Given the description of an element on the screen output the (x, y) to click on. 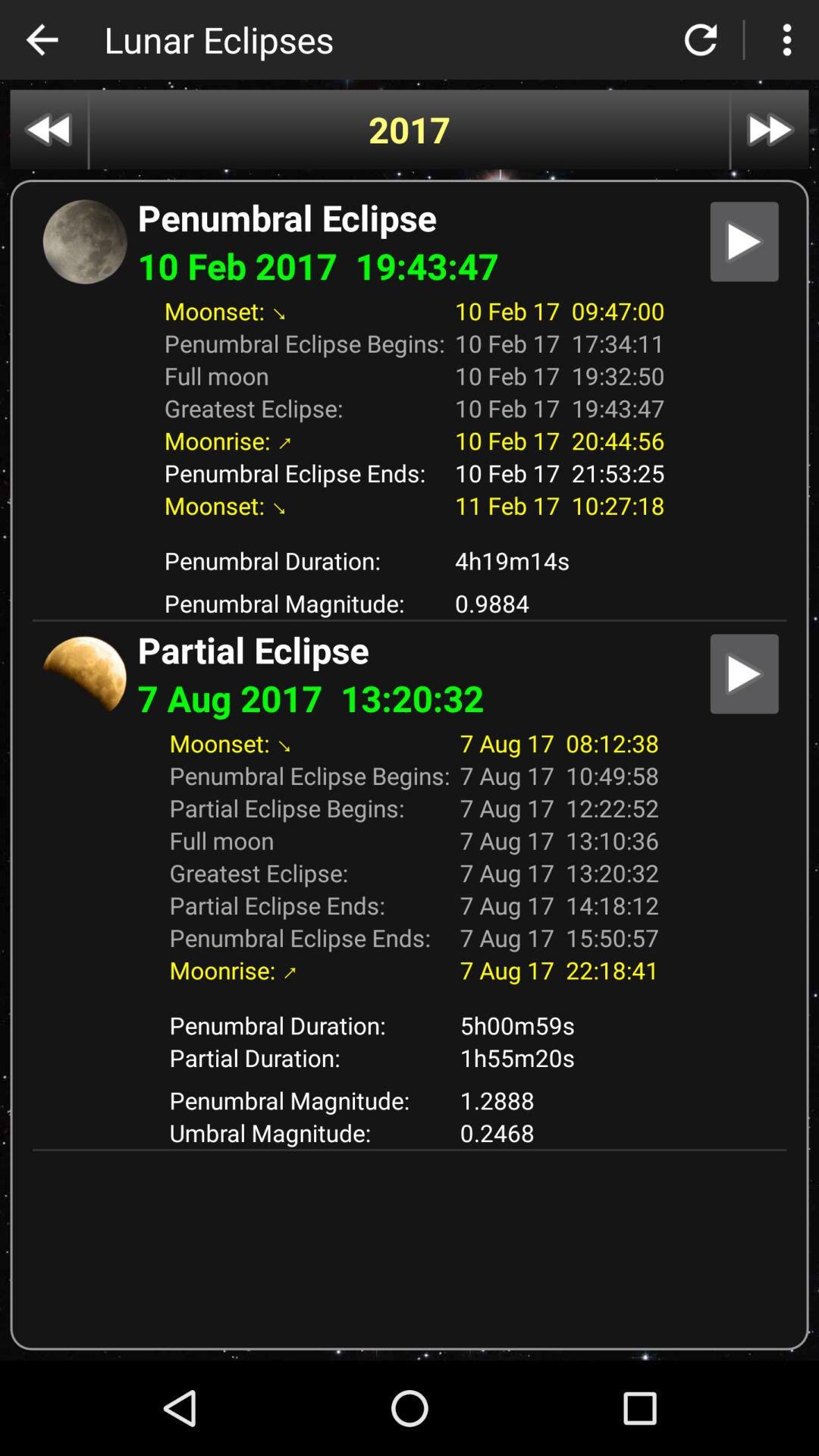
back to previous page (41, 39)
